Given the description of an element on the screen output the (x, y) to click on. 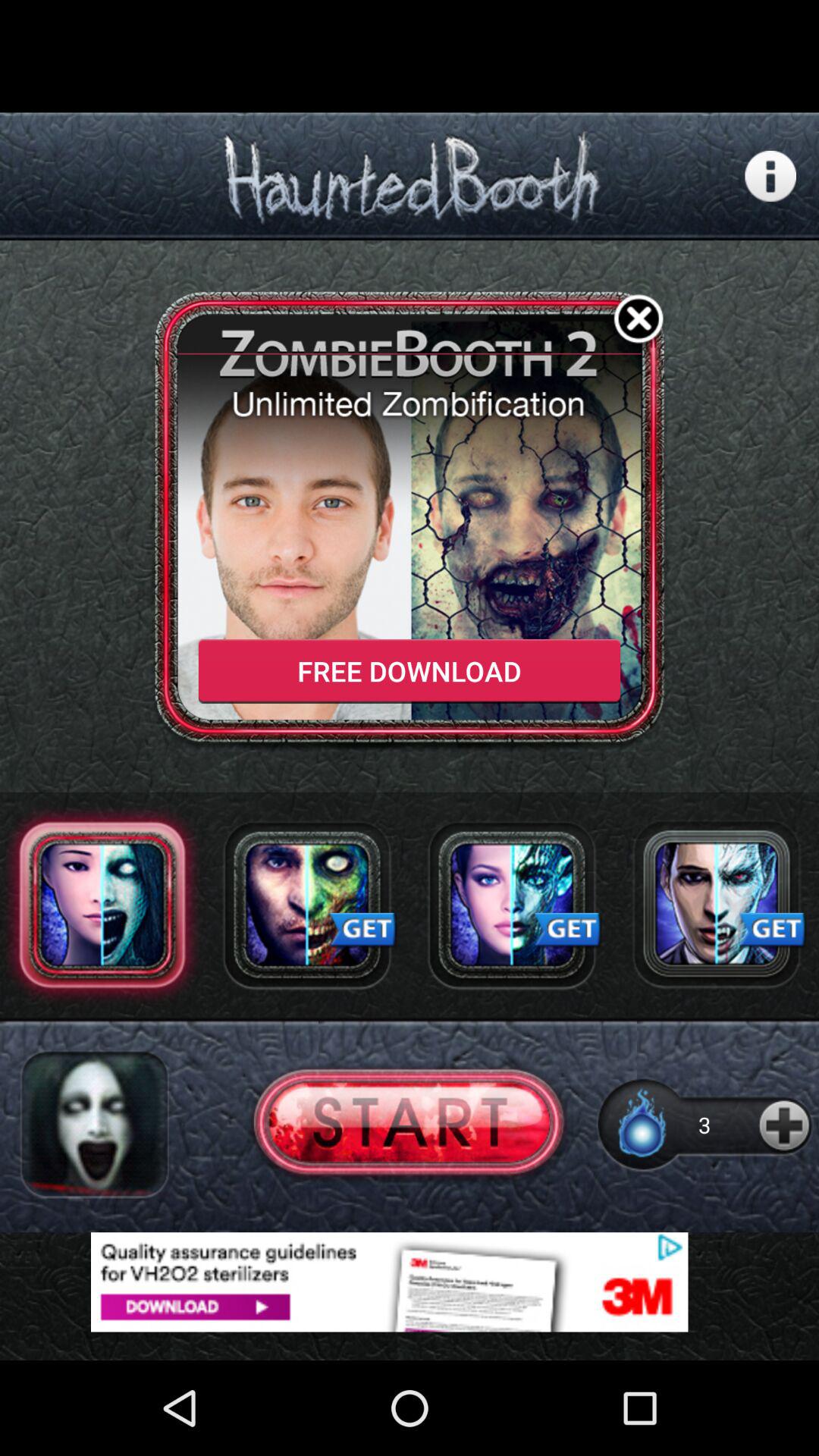
games page (716, 904)
